Given the description of an element on the screen output the (x, y) to click on. 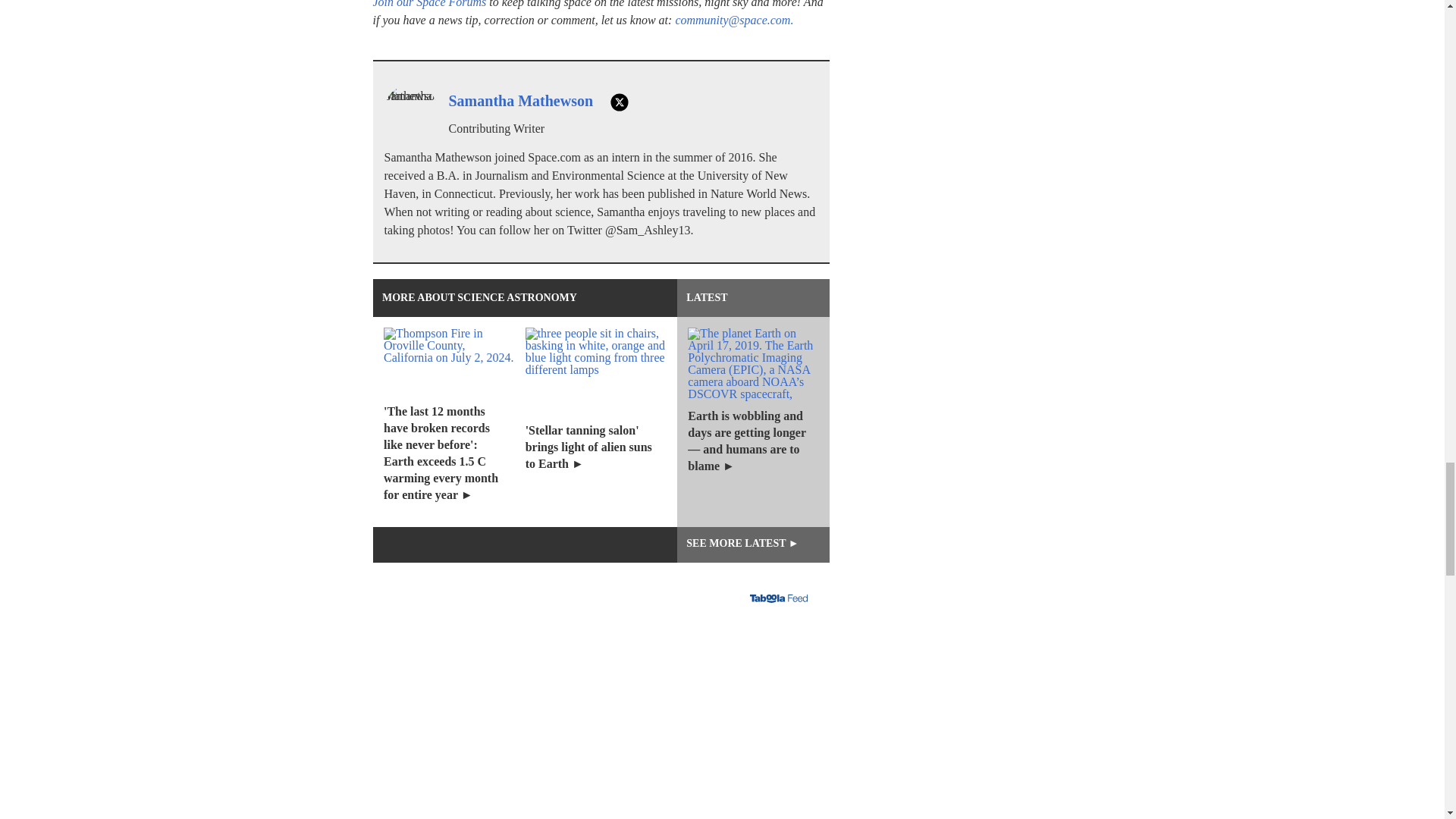
What is your writing missing? (600, 718)
